Given the description of an element on the screen output the (x, y) to click on. 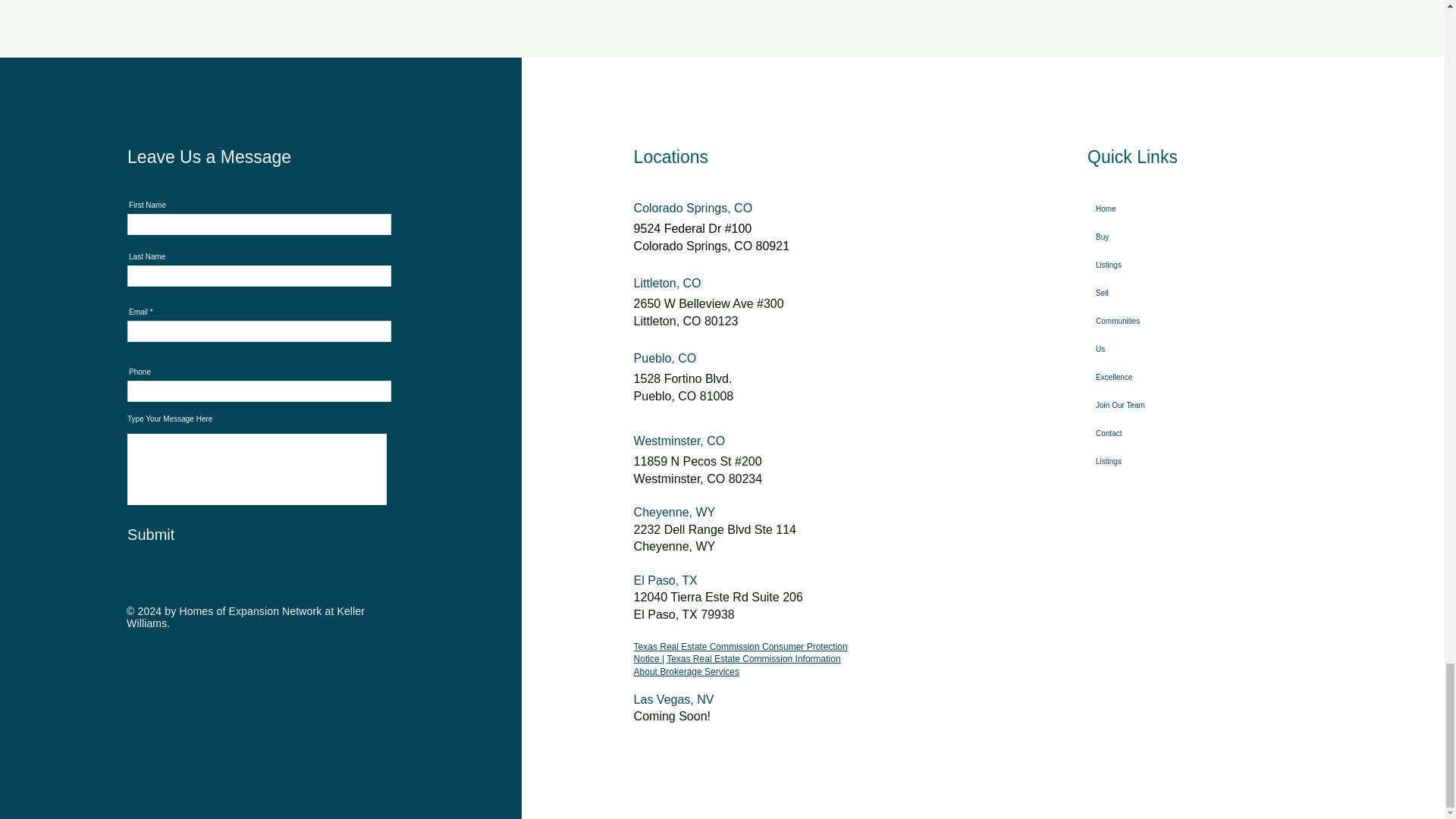
Us (1138, 348)
Home (1138, 208)
Contact (1138, 433)
Texas Real Estate Commission Consumer Protection Notice  (740, 653)
Join Our Team (1138, 405)
Buy (1138, 236)
Listings (1138, 264)
Excellence (1138, 377)
Sell (1138, 293)
